Given the description of an element on the screen output the (x, y) to click on. 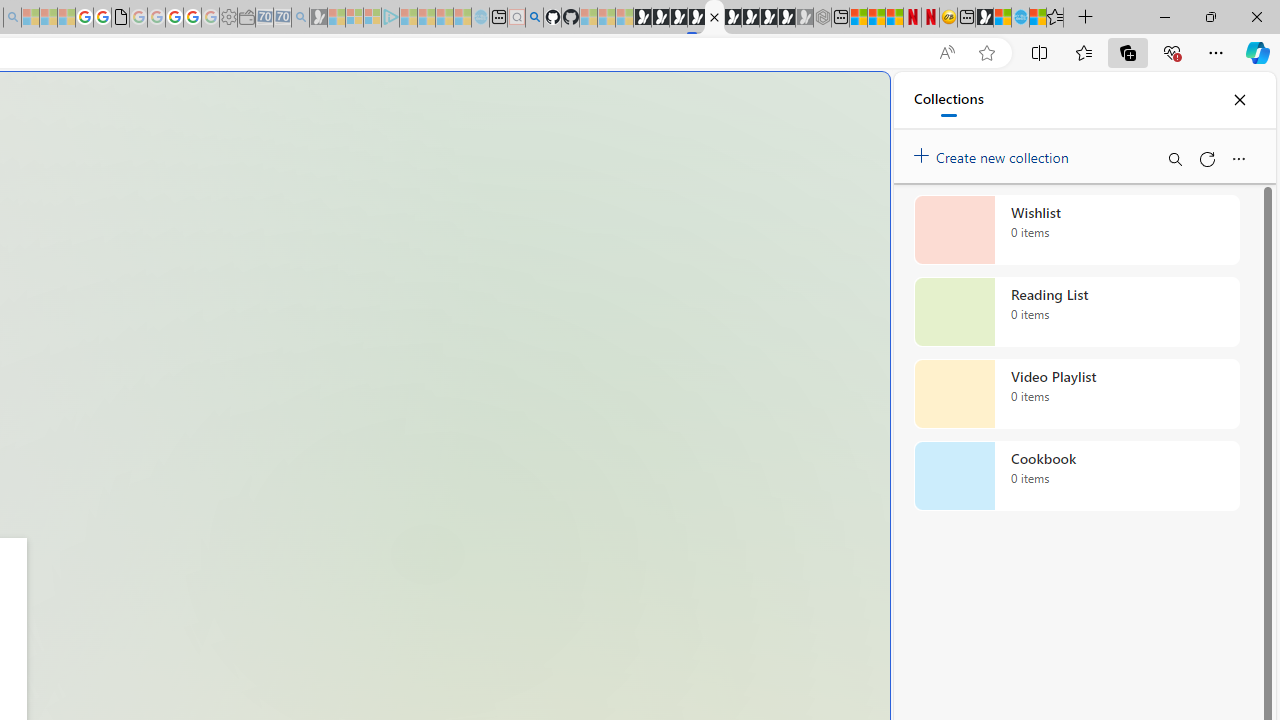
Wishlist collection, 0 items (1076, 229)
